Given the description of an element on the screen output the (x, y) to click on. 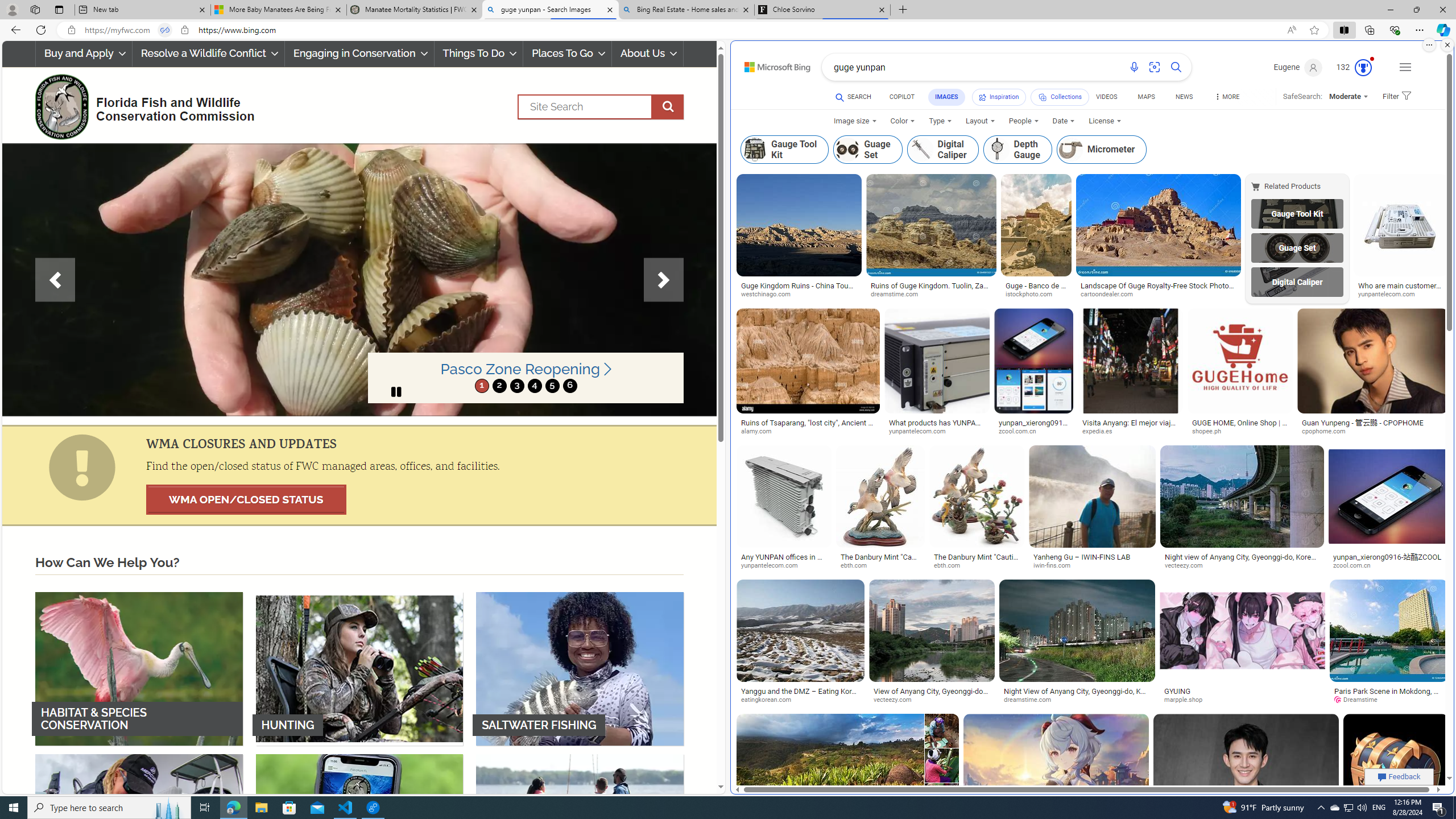
Eugene (1298, 67)
Date (1063, 121)
VIDEOS (1106, 96)
marpple.shop (1187, 699)
Related ProductsGauge Tool KitGuage SetDigital Caliper (1299, 238)
COPILOT (901, 96)
Search using voice (1134, 66)
carousel image link (359, 279)
Next (663, 279)
